Given the description of an element on the screen output the (x, y) to click on. 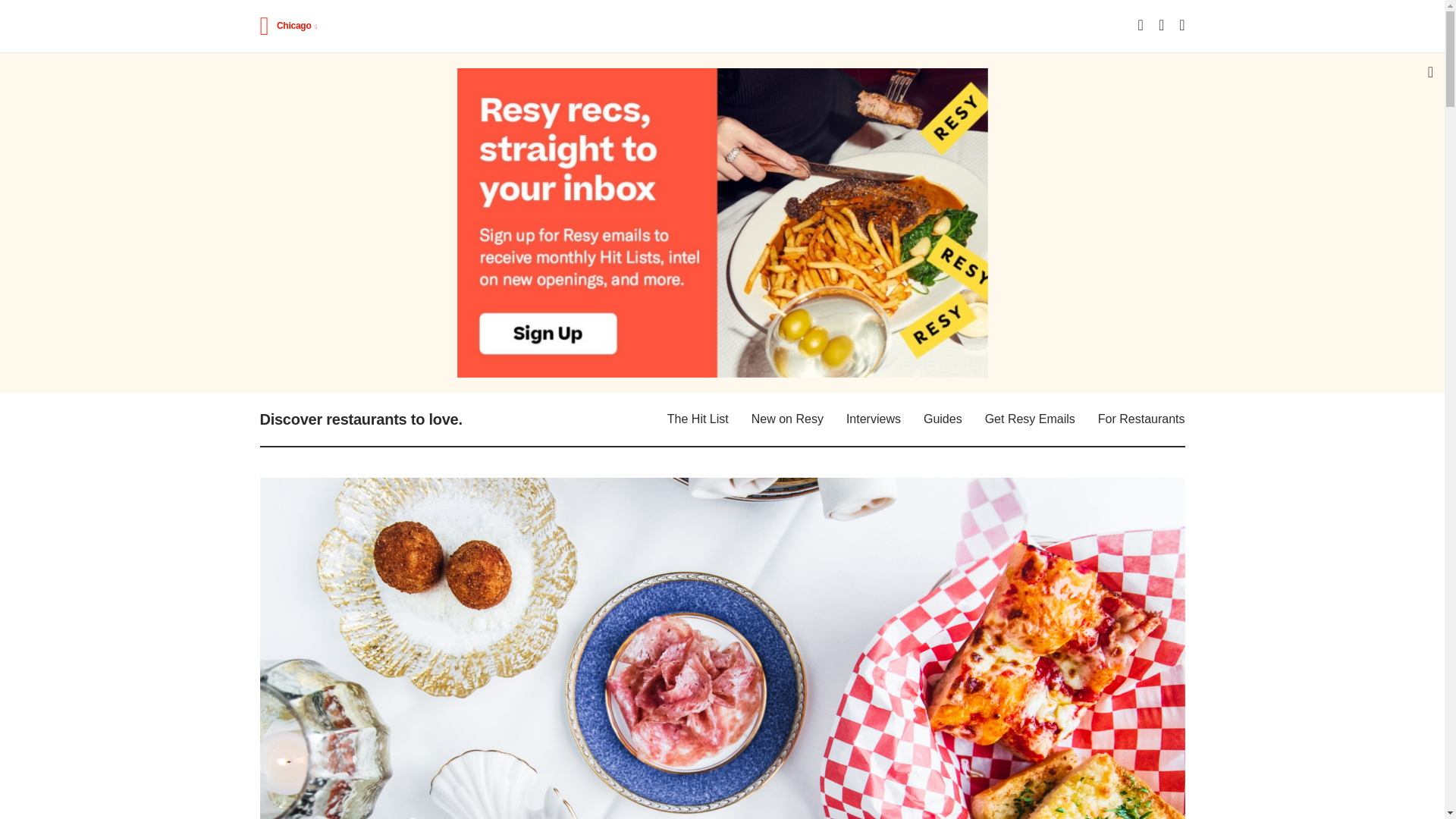
New on Resy (787, 419)
The Hit List (697, 419)
Chicago (296, 25)
Discover restaurants to love. (360, 419)
